Given the description of an element on the screen output the (x, y) to click on. 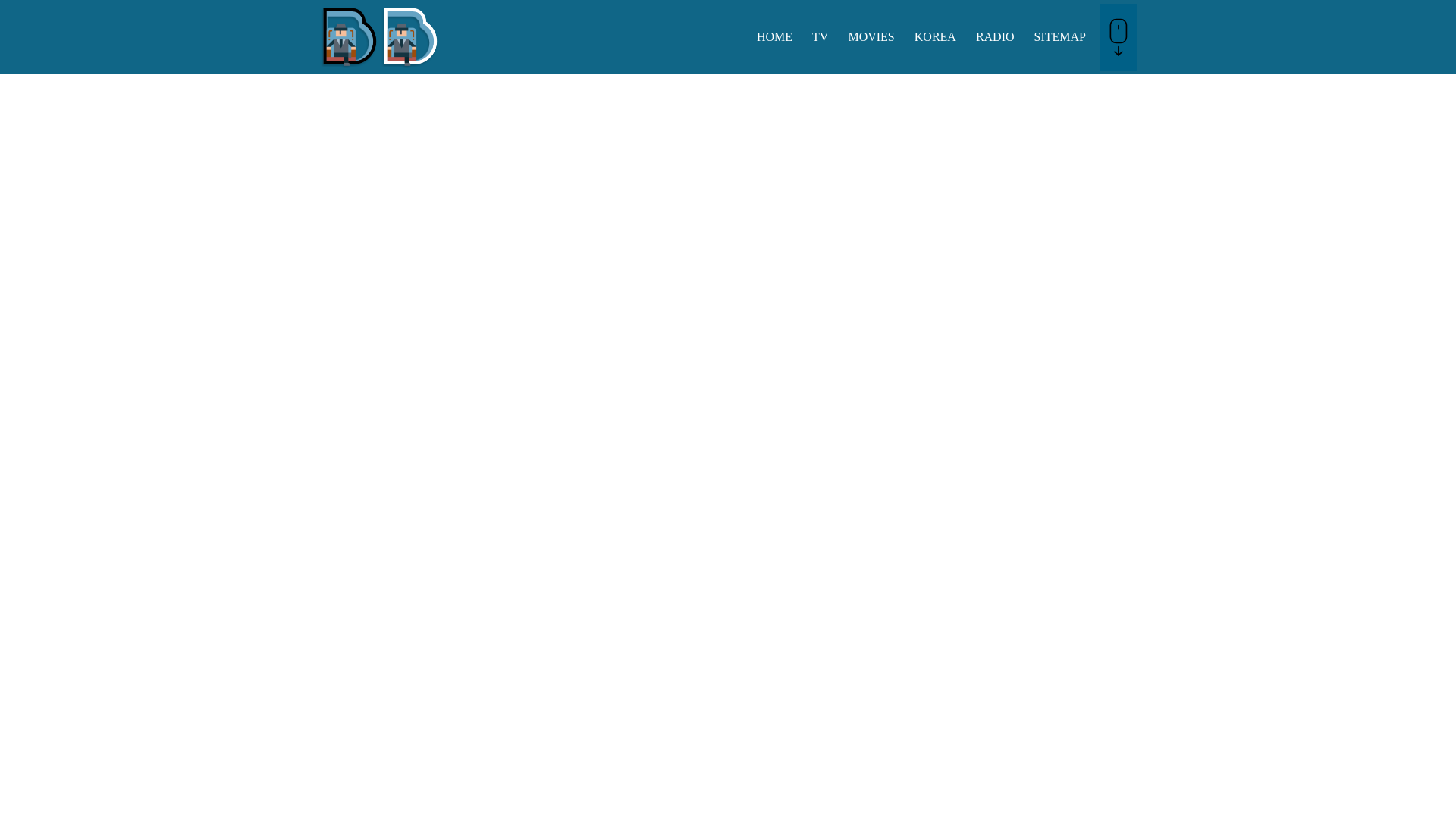
MOVIES (871, 36)
MALAYSIA RADIO STREAMING (995, 36)
SITEMAP (1060, 36)
MALAYSIA TV STREAMING (820, 36)
RADIO (995, 36)
MOVIES MALAYSIA ONLINE TV (871, 36)
KOREA STREAMING TV (935, 36)
MAIN PAGE (774, 36)
MALAYSIA LIVE TV STREAMING BY BOSS (378, 63)
TV (820, 36)
